Given the description of an element on the screen output the (x, y) to click on. 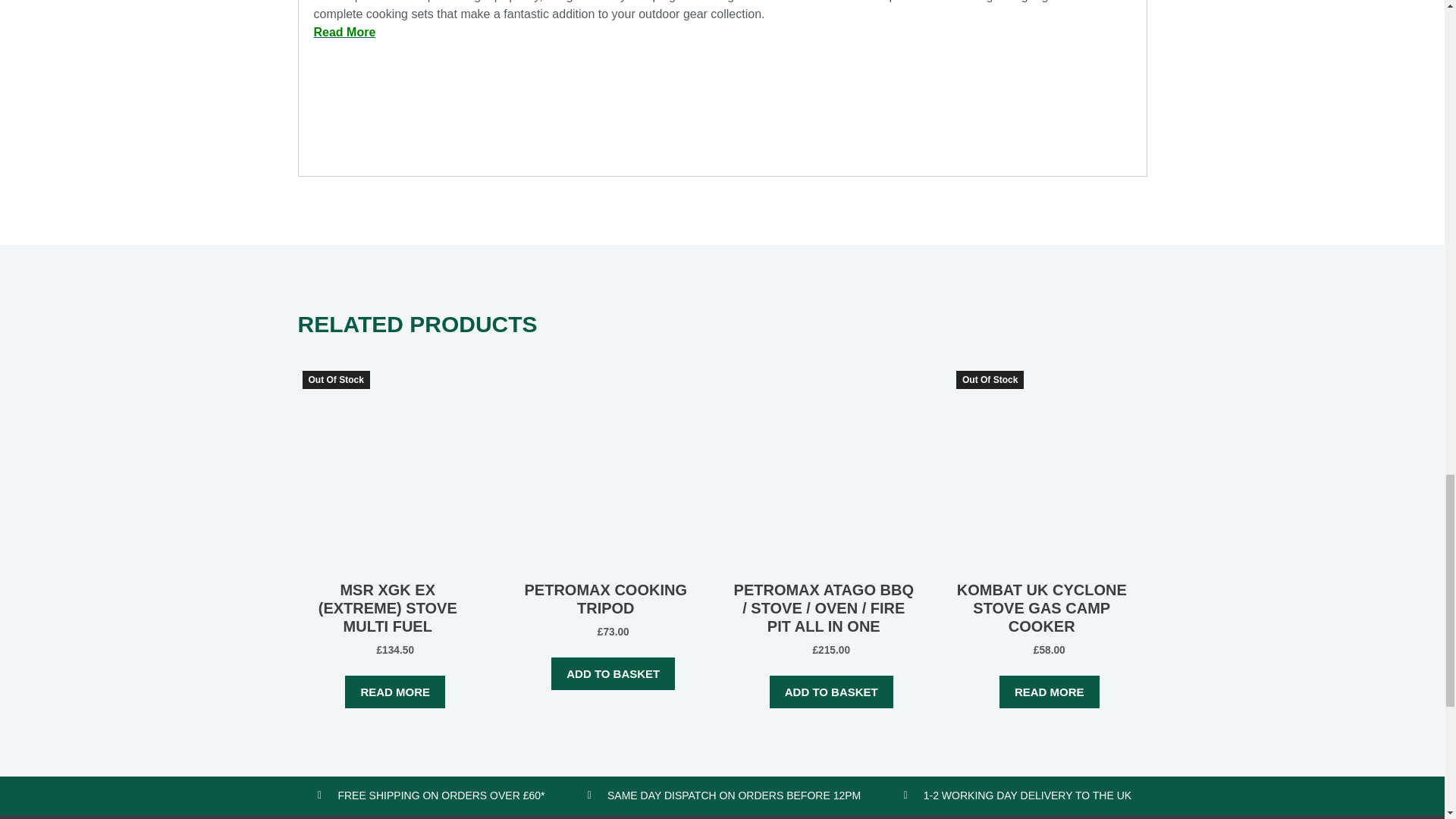
Fire Maple Gear (371, 151)
